Given the description of an element on the screen output the (x, y) to click on. 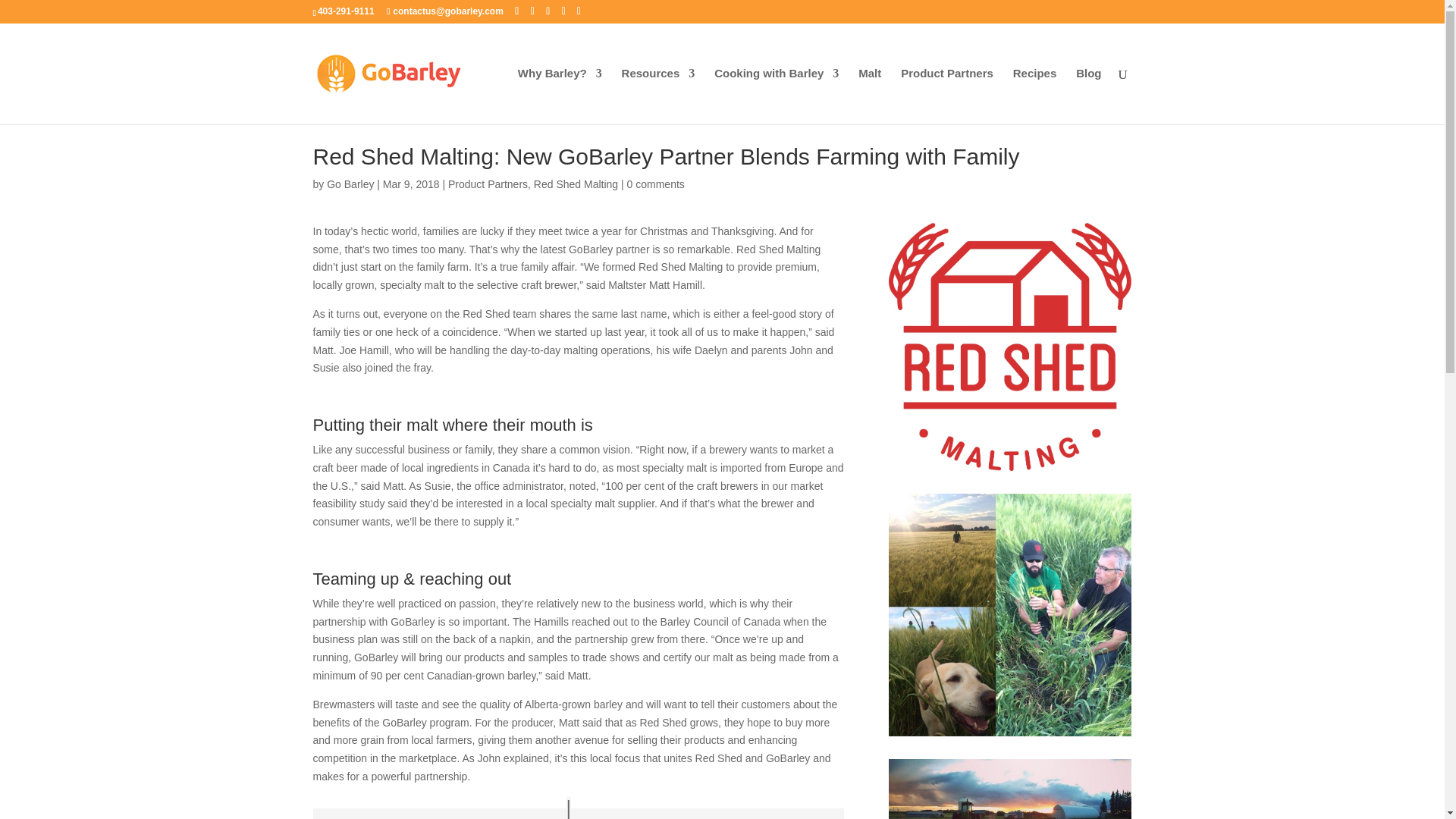
Product Partners (946, 95)
Red Shed Malting (575, 184)
Cooking with Barley (776, 95)
Go Barley (350, 184)
Blog (1087, 95)
Resources (658, 95)
Product Partners (487, 184)
Posts by Go Barley (350, 184)
Why Barley? (560, 95)
0 comments (655, 184)
Recipes (1035, 95)
Malt (869, 95)
